Given the description of an element on the screen output the (x, y) to click on. 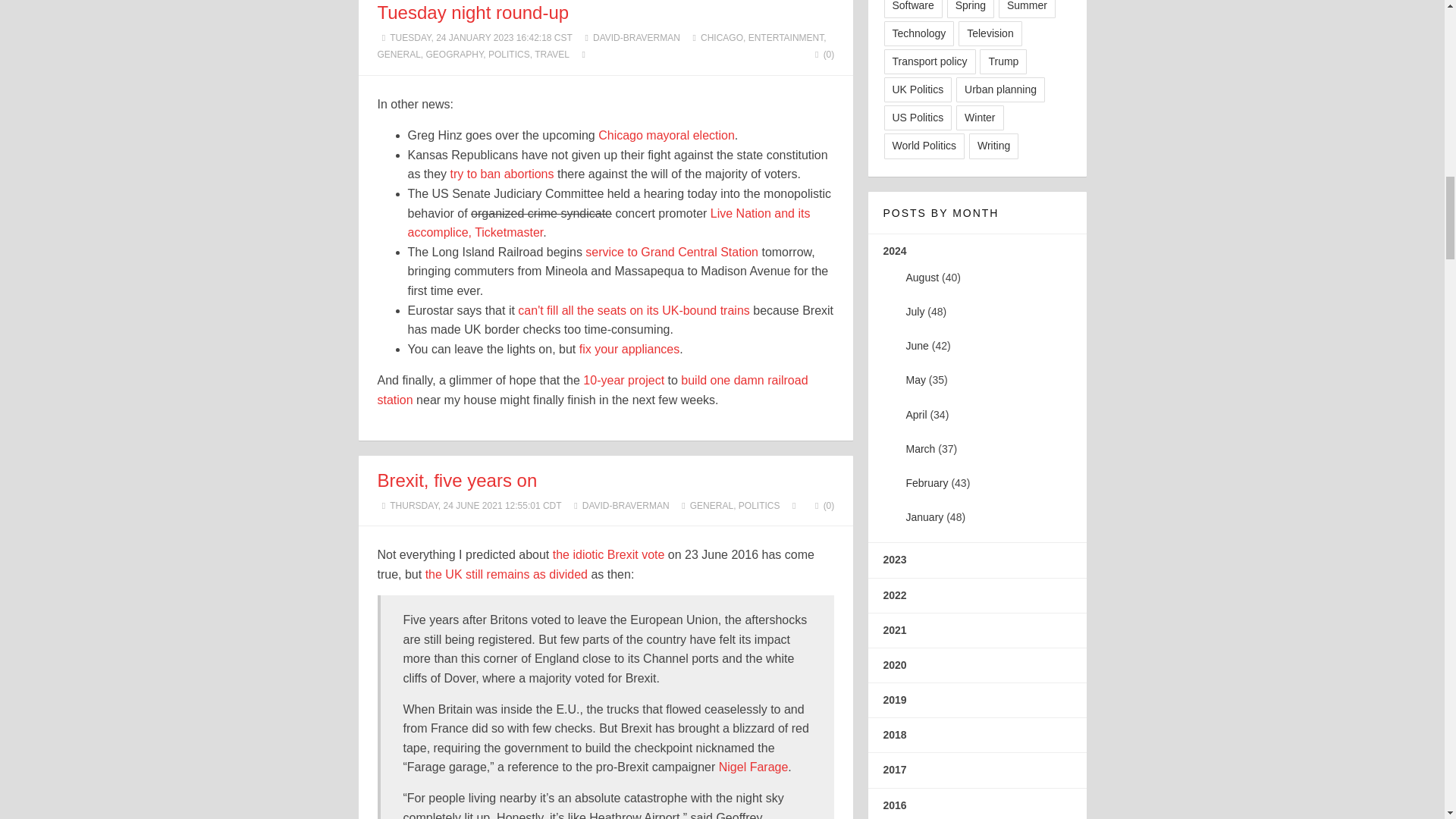
try to ban abortions (501, 173)
POLITICS (759, 505)
the idiotic Brexit vote (609, 554)
TRAVEL (551, 54)
Open a map of the location where this post was written (582, 54)
ENTERTAINMENT (786, 37)
GEOGRAPHY (454, 54)
GENERAL (711, 505)
GENERAL (398, 54)
Brexit, five years on (457, 480)
